Given the description of an element on the screen output the (x, y) to click on. 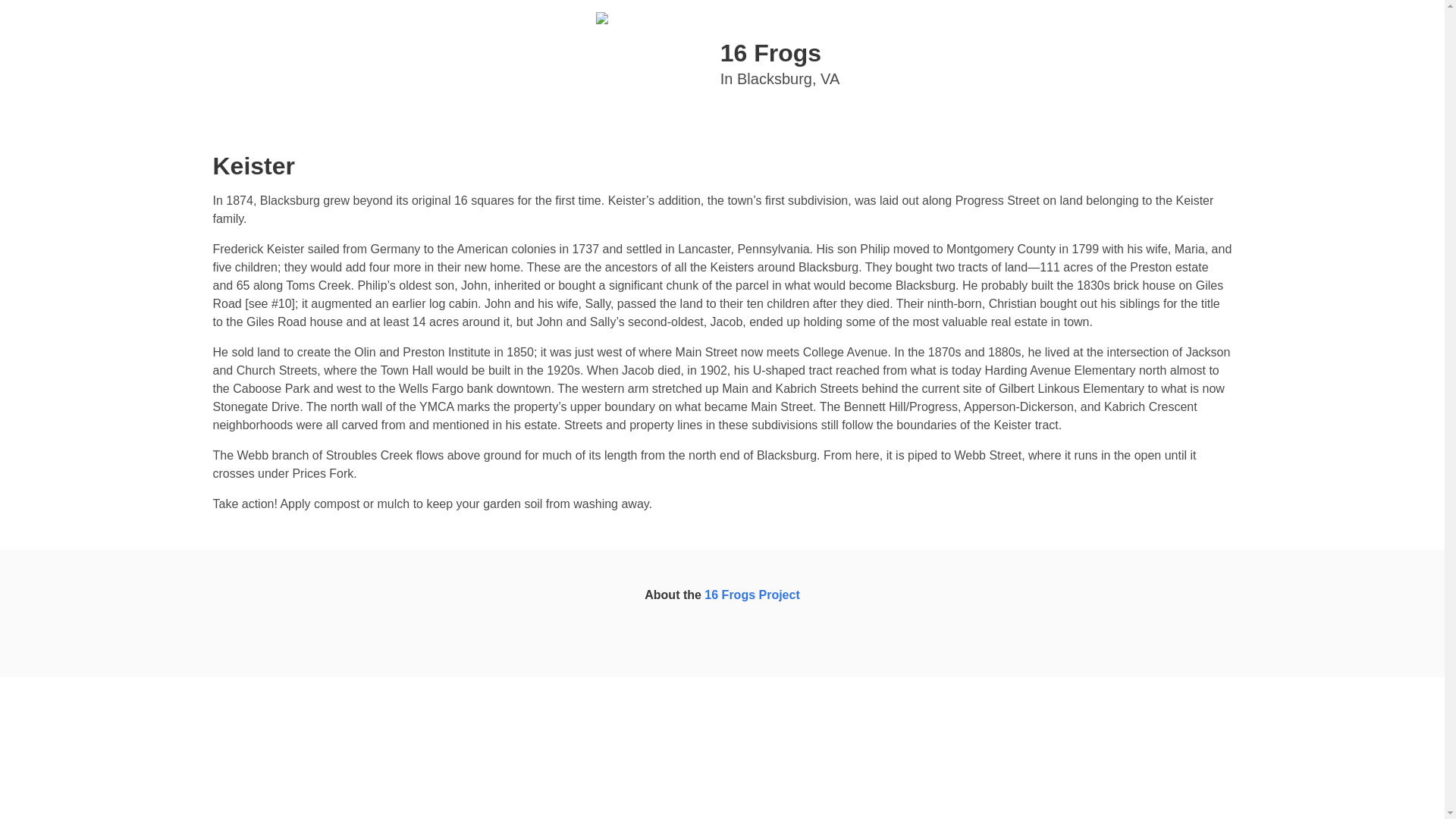
16 Frogs Project (721, 64)
